Given the description of an element on the screen output the (x, y) to click on. 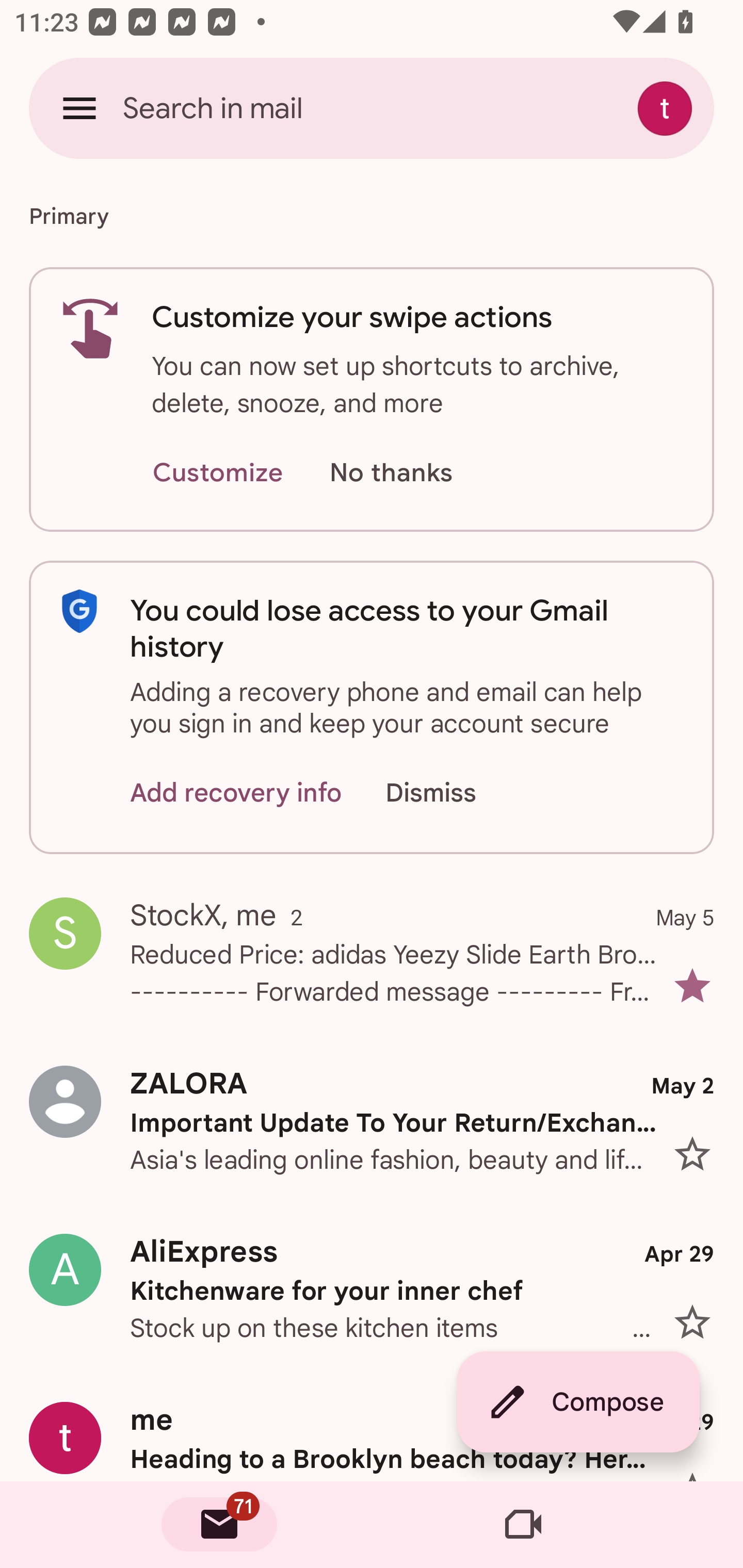
Open navigation drawer (79, 108)
Customize (217, 473)
No thanks (390, 473)
Add recovery info (235, 792)
Dismiss (449, 792)
Compose (577, 1401)
Meet (523, 1524)
